Given the description of an element on the screen output the (x, y) to click on. 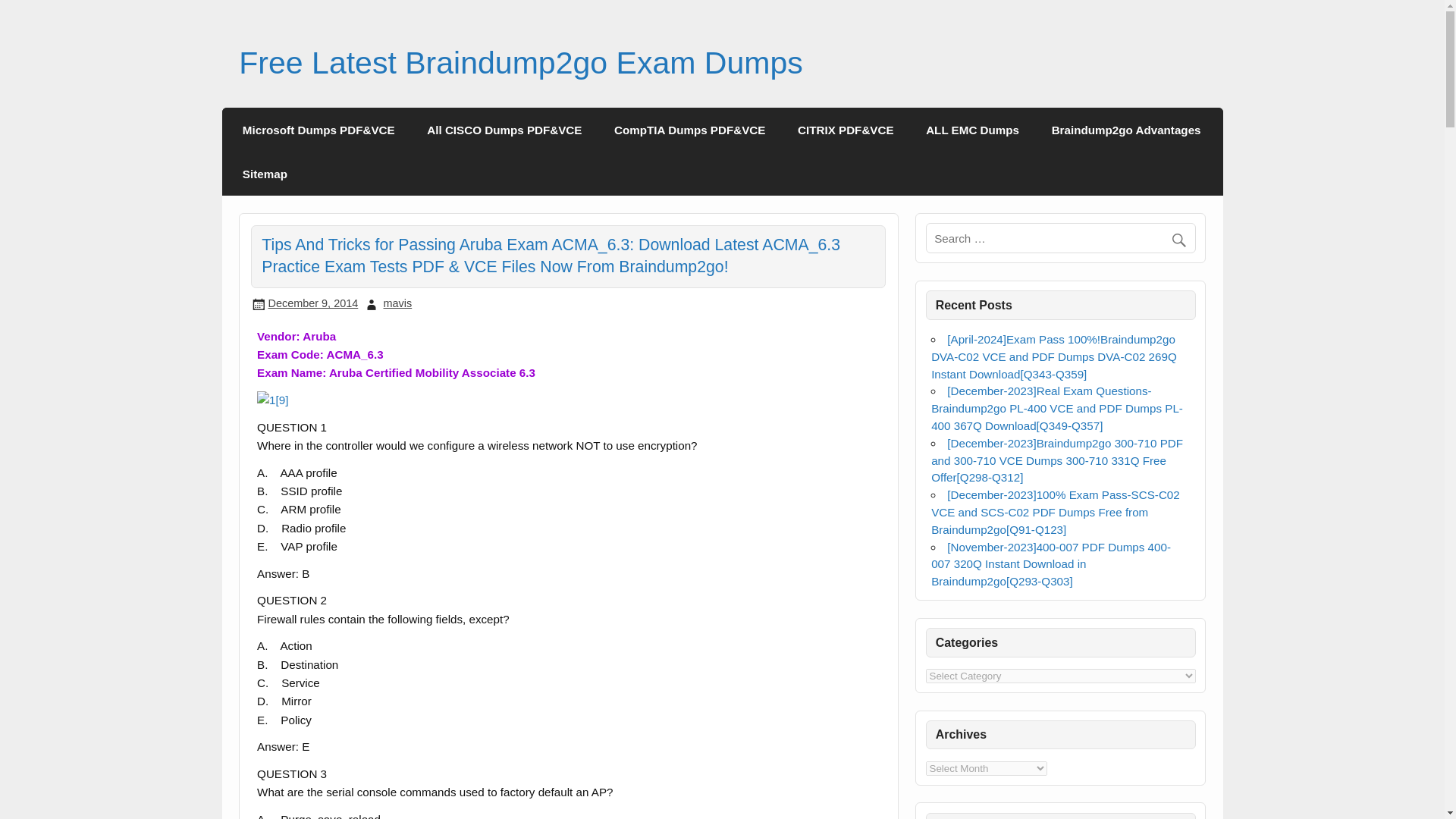
mavis (398, 303)
Sitemap (265, 173)
Braindump2go Advantages (1125, 129)
6:56 am (312, 303)
Free Latest Braindump2go Exam Dumps (520, 62)
December 9, 2014 (312, 303)
ALL EMC Dumps (972, 129)
View all posts by mavis (398, 303)
